Given the description of an element on the screen output the (x, y) to click on. 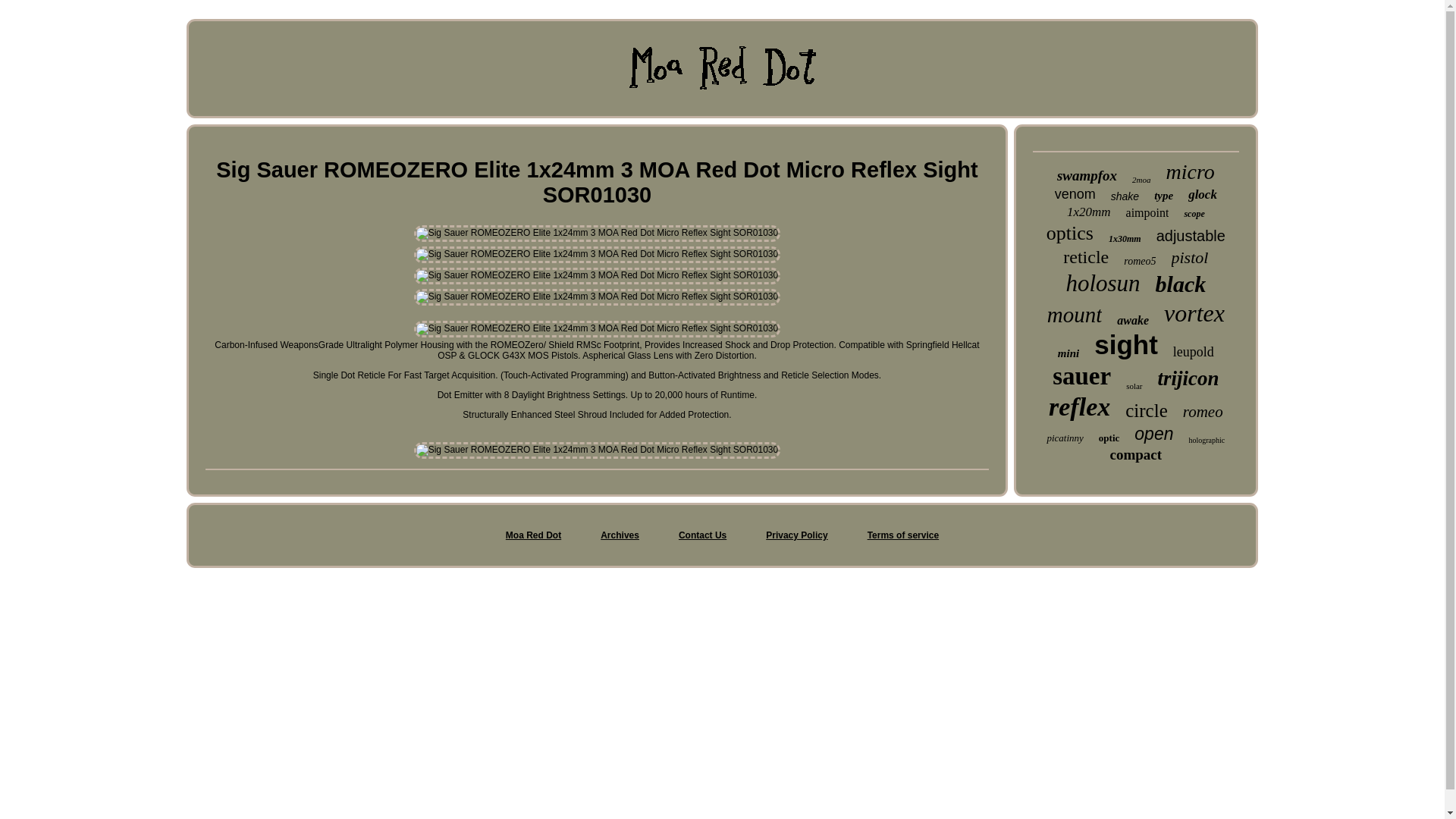
mount (1074, 314)
reticle (1085, 257)
2moa (1141, 179)
holosun (1102, 283)
trijicon (1188, 378)
type (1163, 195)
swampfox (1086, 175)
1x20mm (1088, 212)
aimpoint (1147, 213)
adjustable (1190, 235)
reflex (1078, 407)
solar (1133, 385)
